Given the description of an element on the screen output the (x, y) to click on. 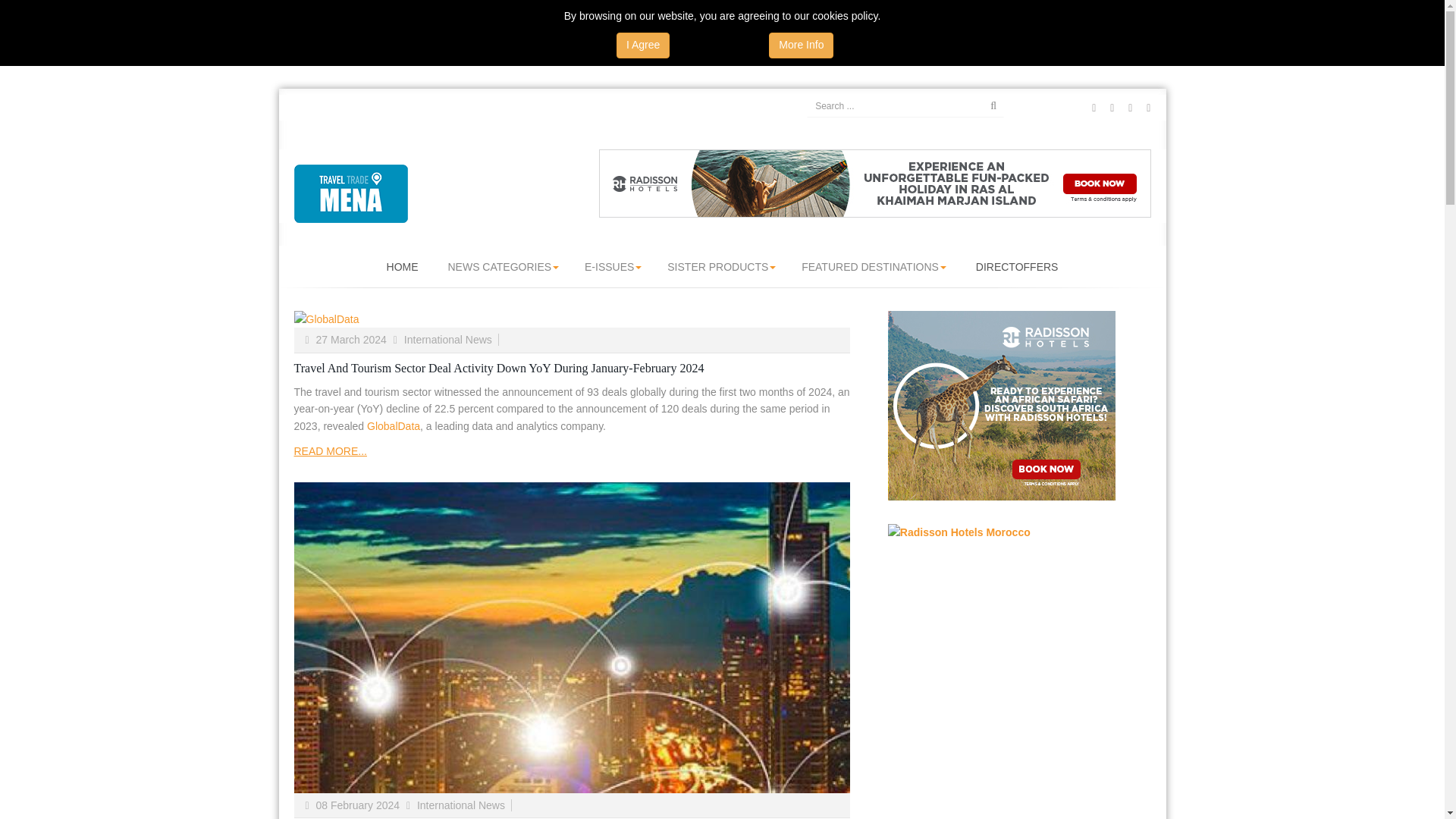
Travel Trade mena (350, 193)
I Agree (642, 45)
GlobalData (572, 319)
More Info (800, 45)
Radisson Hotels Ras Al Khaimah Banner (874, 182)
